Given the description of an element on the screen output the (x, y) to click on. 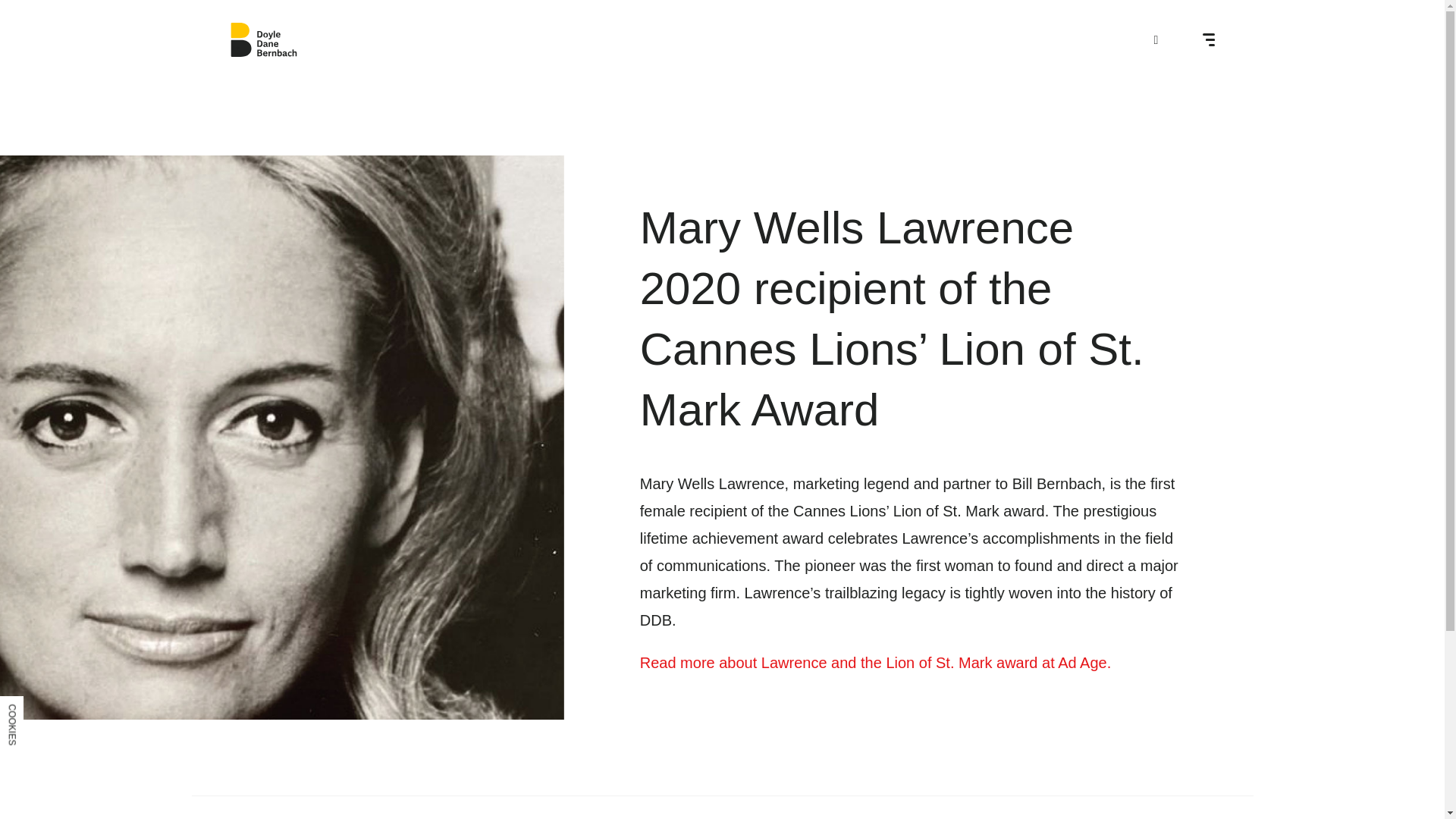
DDB (262, 39)
